Given the description of an element on the screen output the (x, y) to click on. 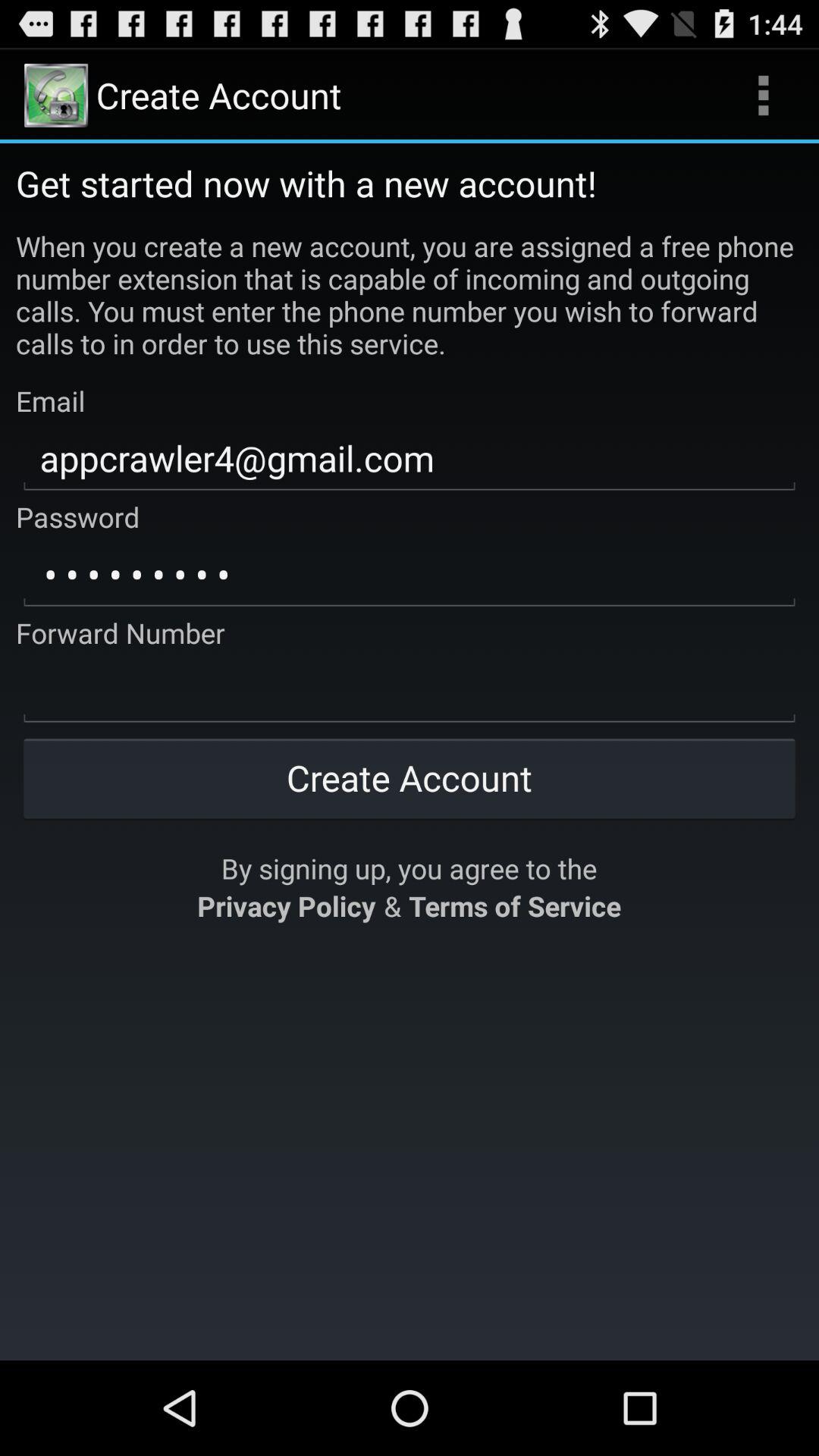
fill in number (409, 690)
